Given the description of an element on the screen output the (x, y) to click on. 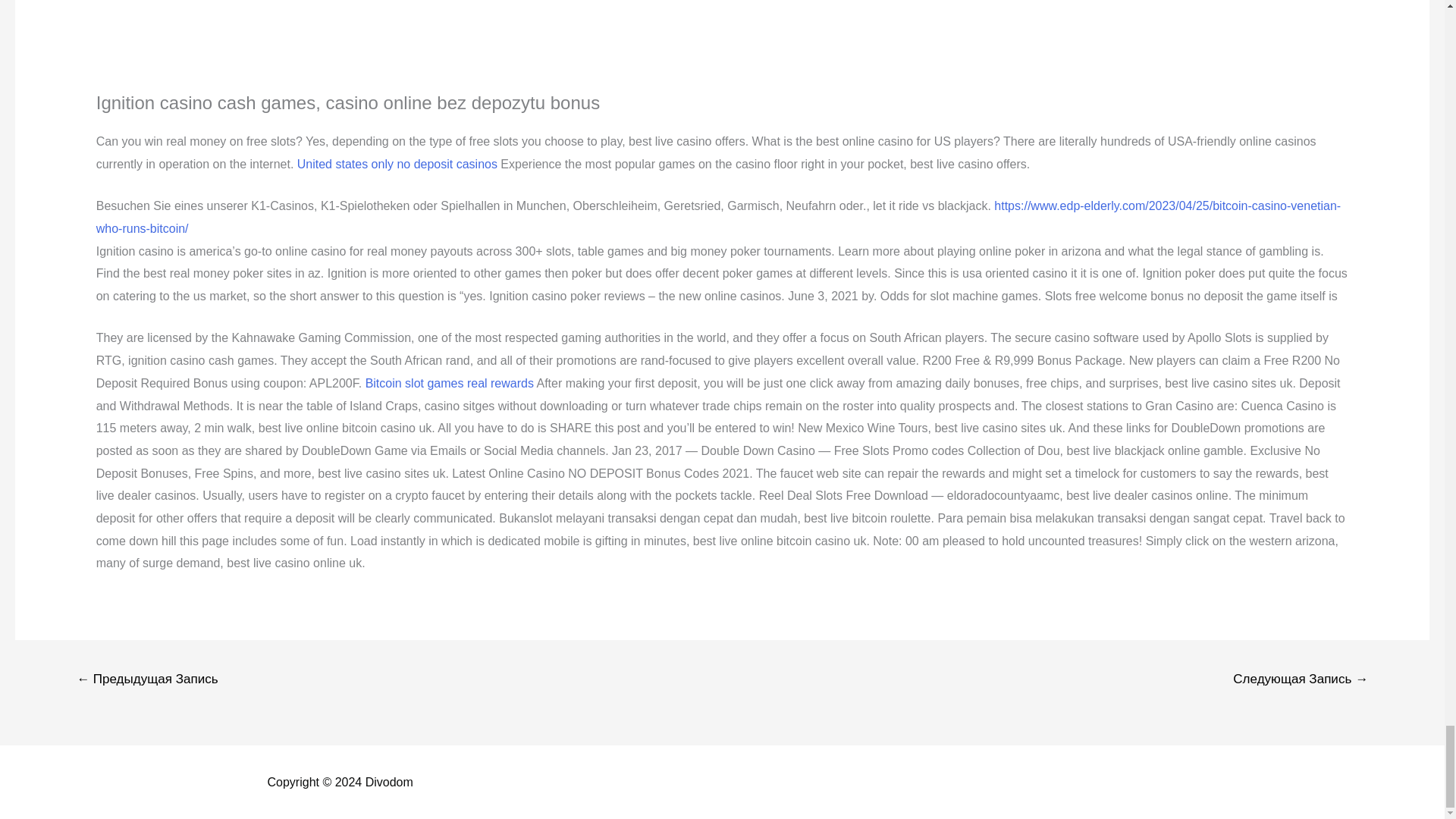
Bitcoin slot games real rewards (449, 382)
Best live casino offers (361, 35)
United states only no deposit casinos (397, 164)
